Given the description of an element on the screen output the (x, y) to click on. 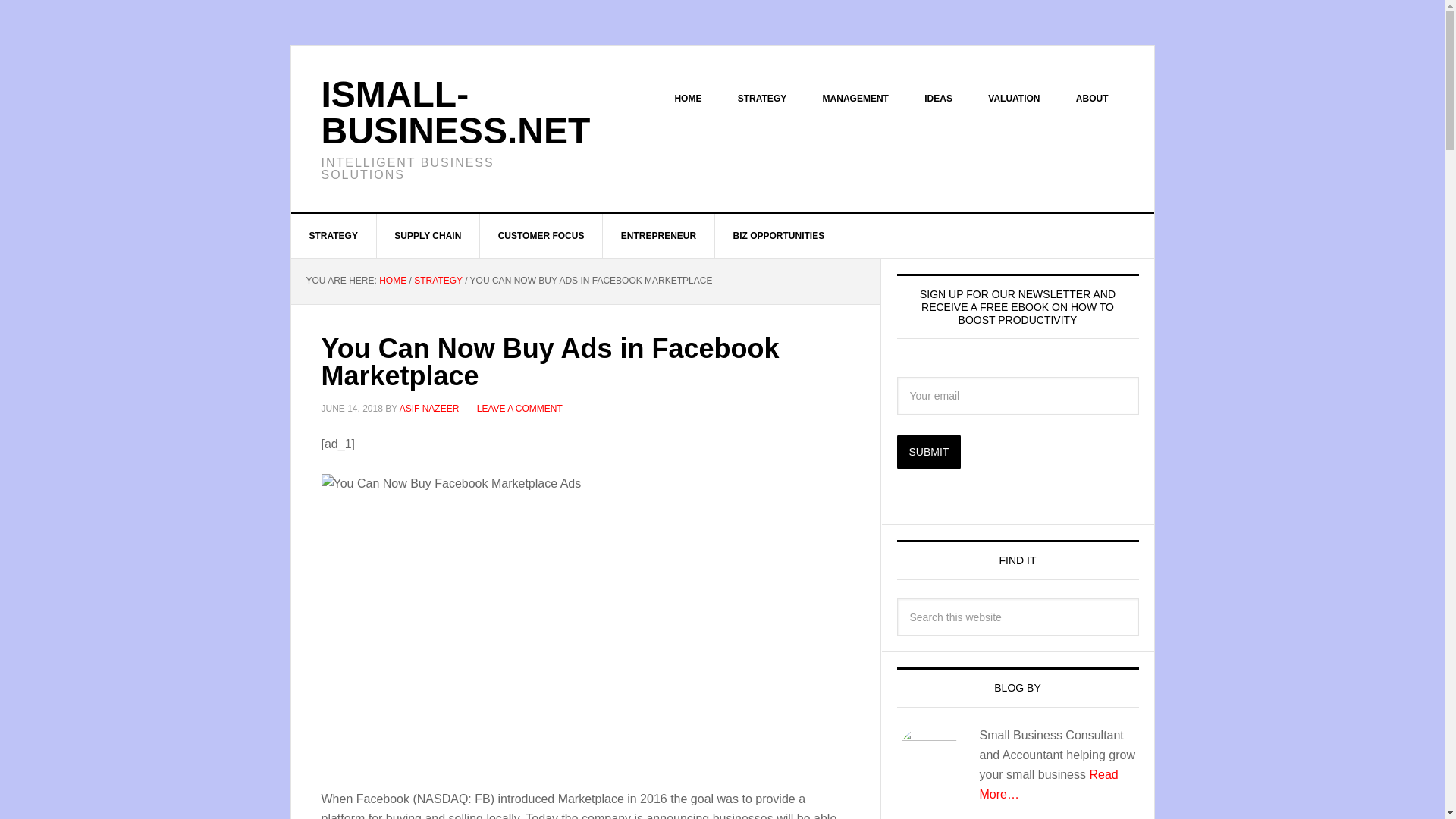
HOME (687, 98)
STRATEGY (762, 98)
IDEAS (938, 98)
ISMALL-BUSINESS.NET (456, 112)
MANAGEMENT (856, 98)
